Given the description of an element on the screen output the (x, y) to click on. 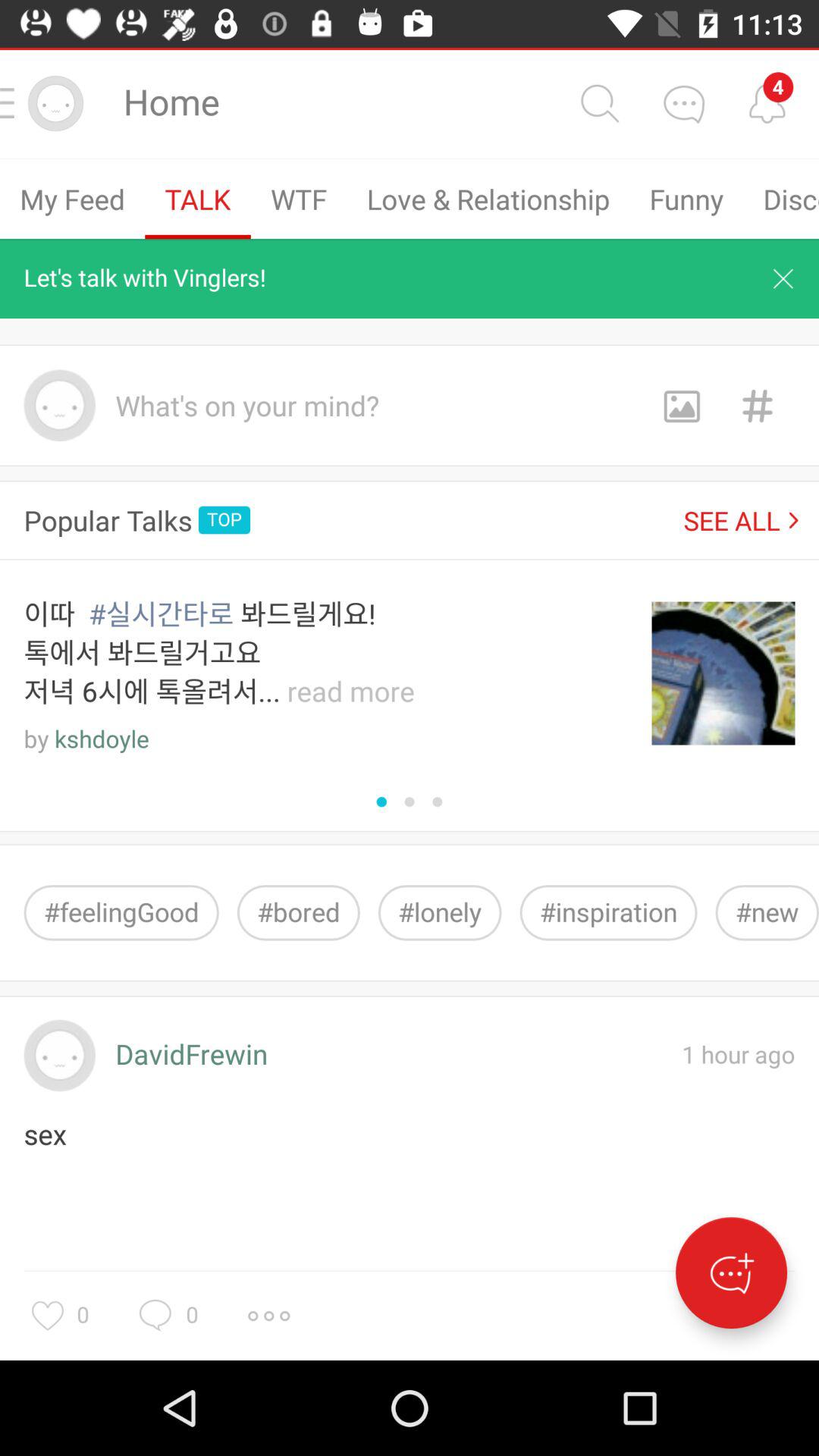
hashtag (757, 405)
